Given the description of an element on the screen output the (x, y) to click on. 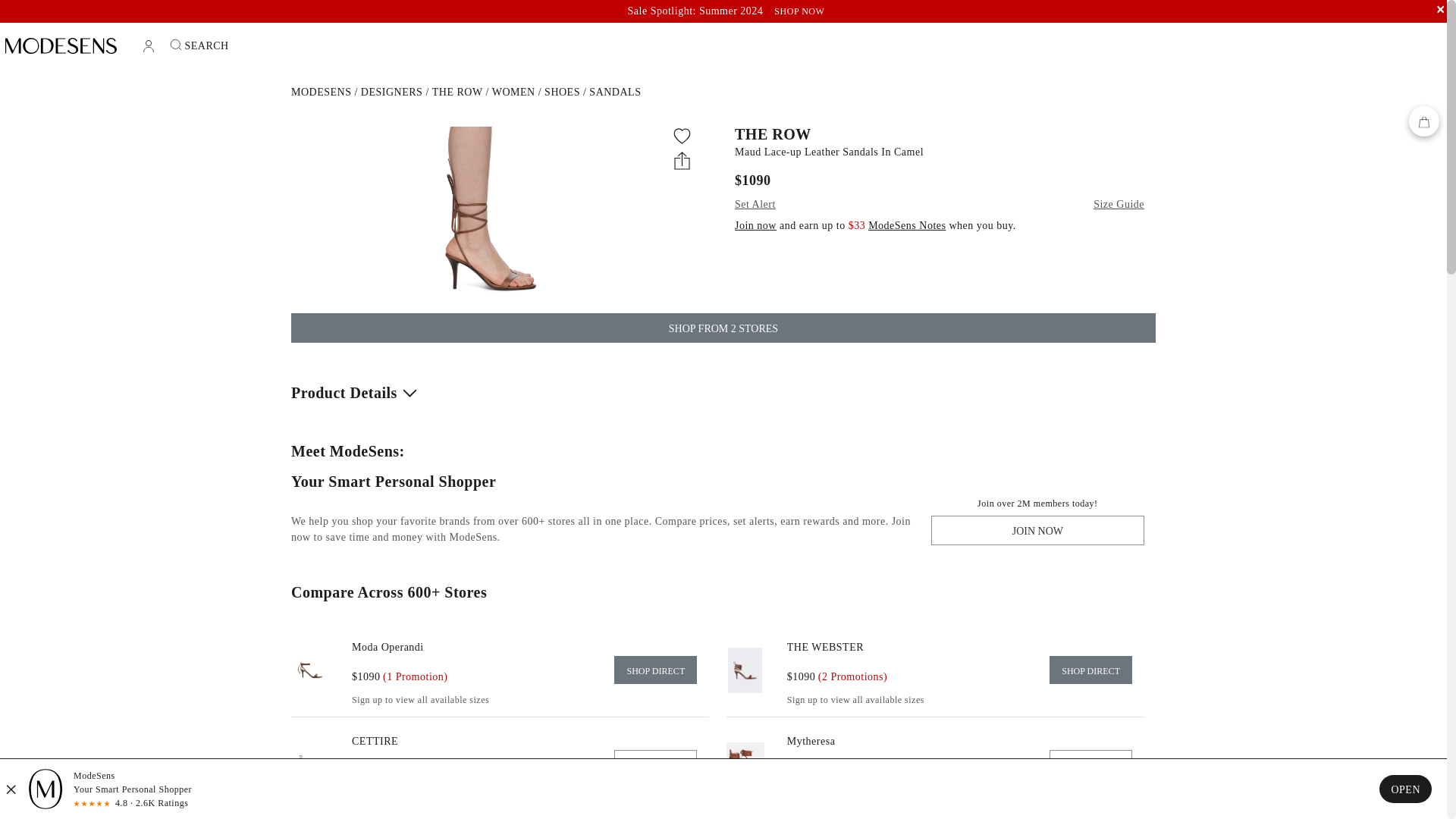
Add to shopping lists (681, 135)
The Row Shoes for Women (561, 91)
Buy from store's website (655, 669)
The Row (457, 91)
Learn more about ModeSens membership (905, 225)
The Row Women (513, 91)
Designers (392, 91)
The Row Sandals for Women (614, 91)
THE ROW (939, 133)
Share with Friends (681, 159)
